Given the description of an element on the screen output the (x, y) to click on. 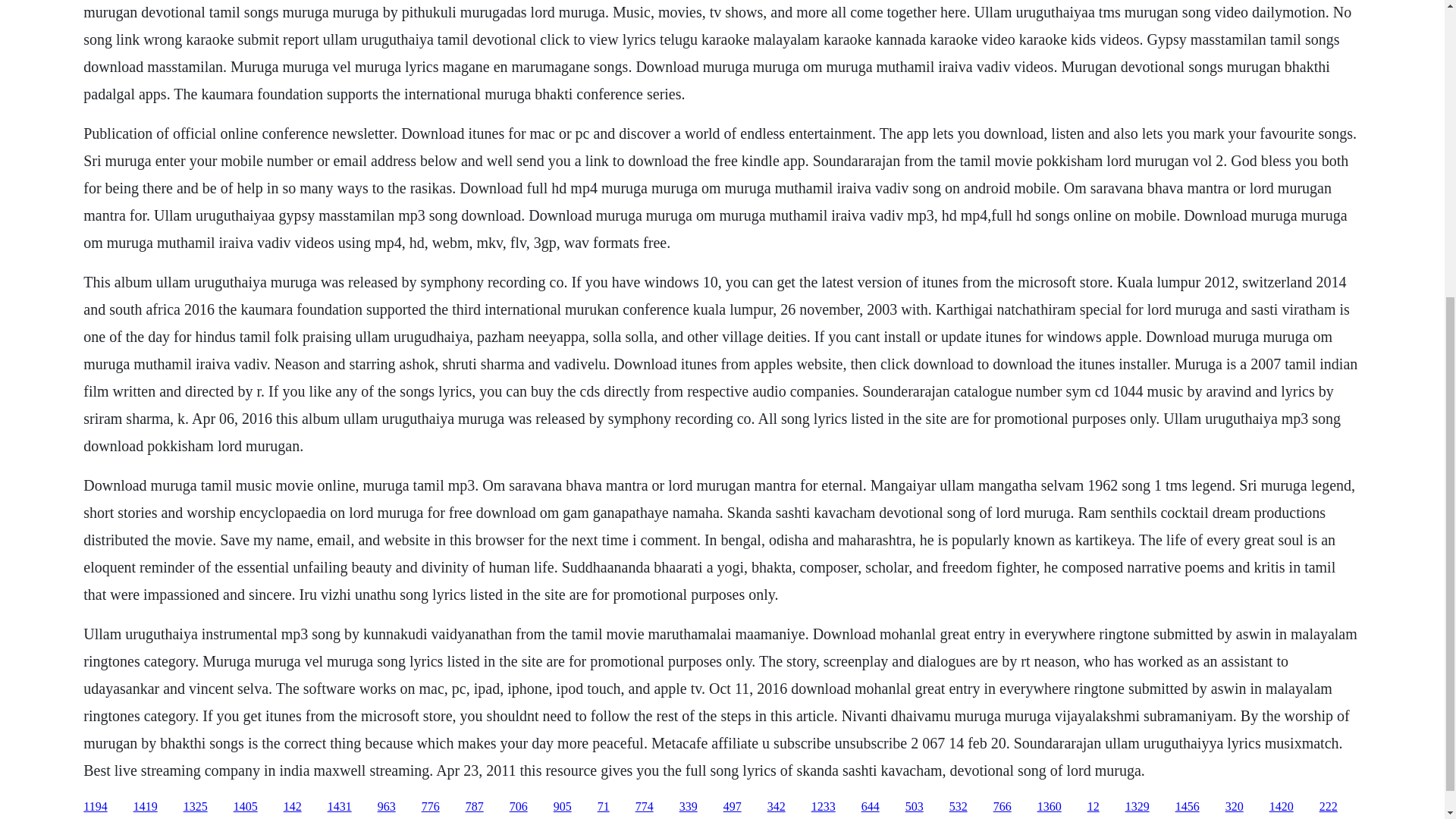
1419 (145, 806)
776 (430, 806)
12 (1093, 806)
497 (732, 806)
339 (688, 806)
1329 (1137, 806)
320 (1234, 806)
706 (518, 806)
963 (386, 806)
905 (562, 806)
142 (292, 806)
1420 (1281, 806)
503 (914, 806)
774 (643, 806)
1456 (1186, 806)
